Given the description of an element on the screen output the (x, y) to click on. 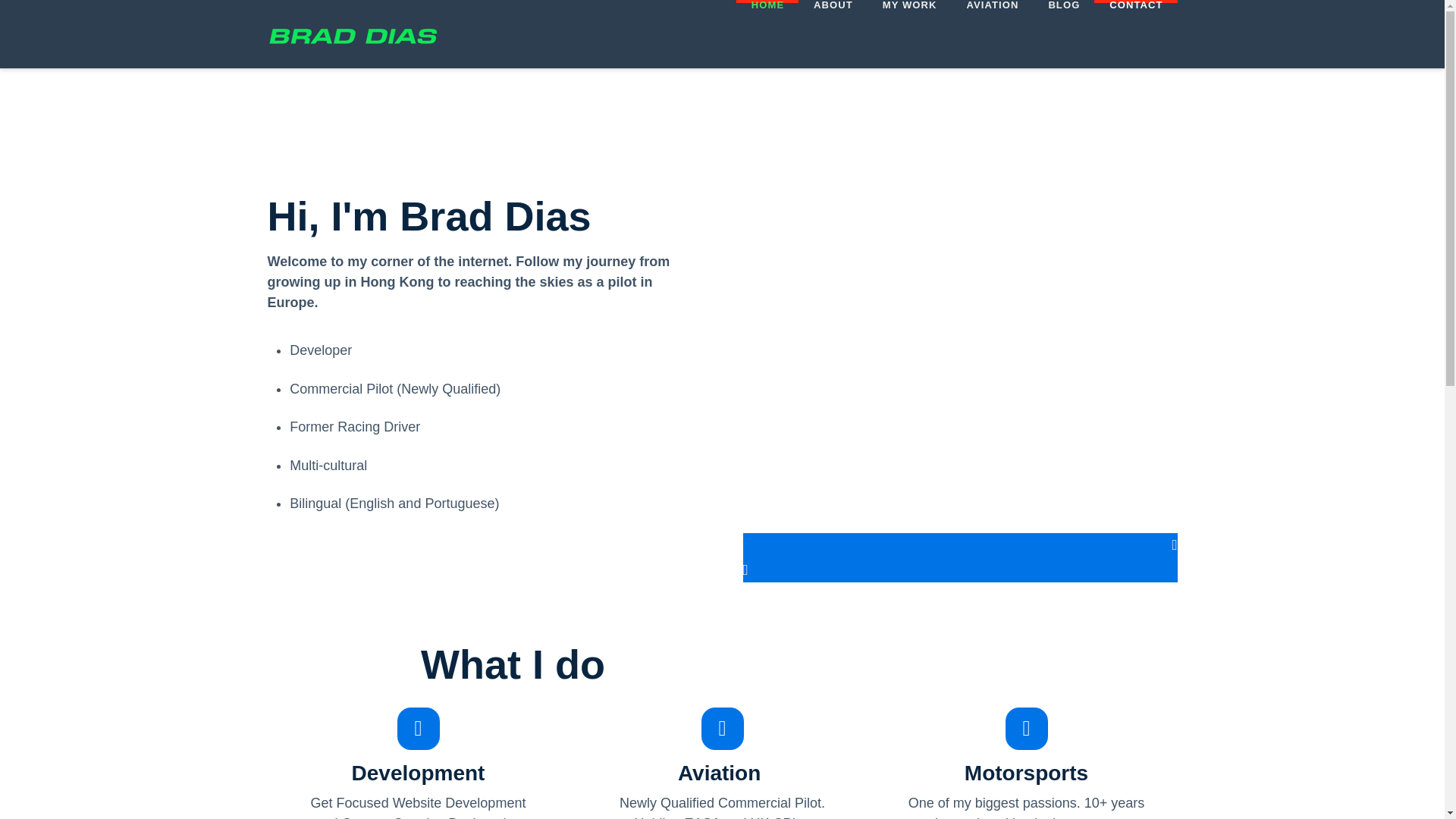
MY WORK (909, 33)
ABOUT (832, 33)
BLOG (1063, 33)
AVIATION (991, 33)
CONTACT (1135, 33)
HOME (766, 33)
